Given the description of an element on the screen output the (x, y) to click on. 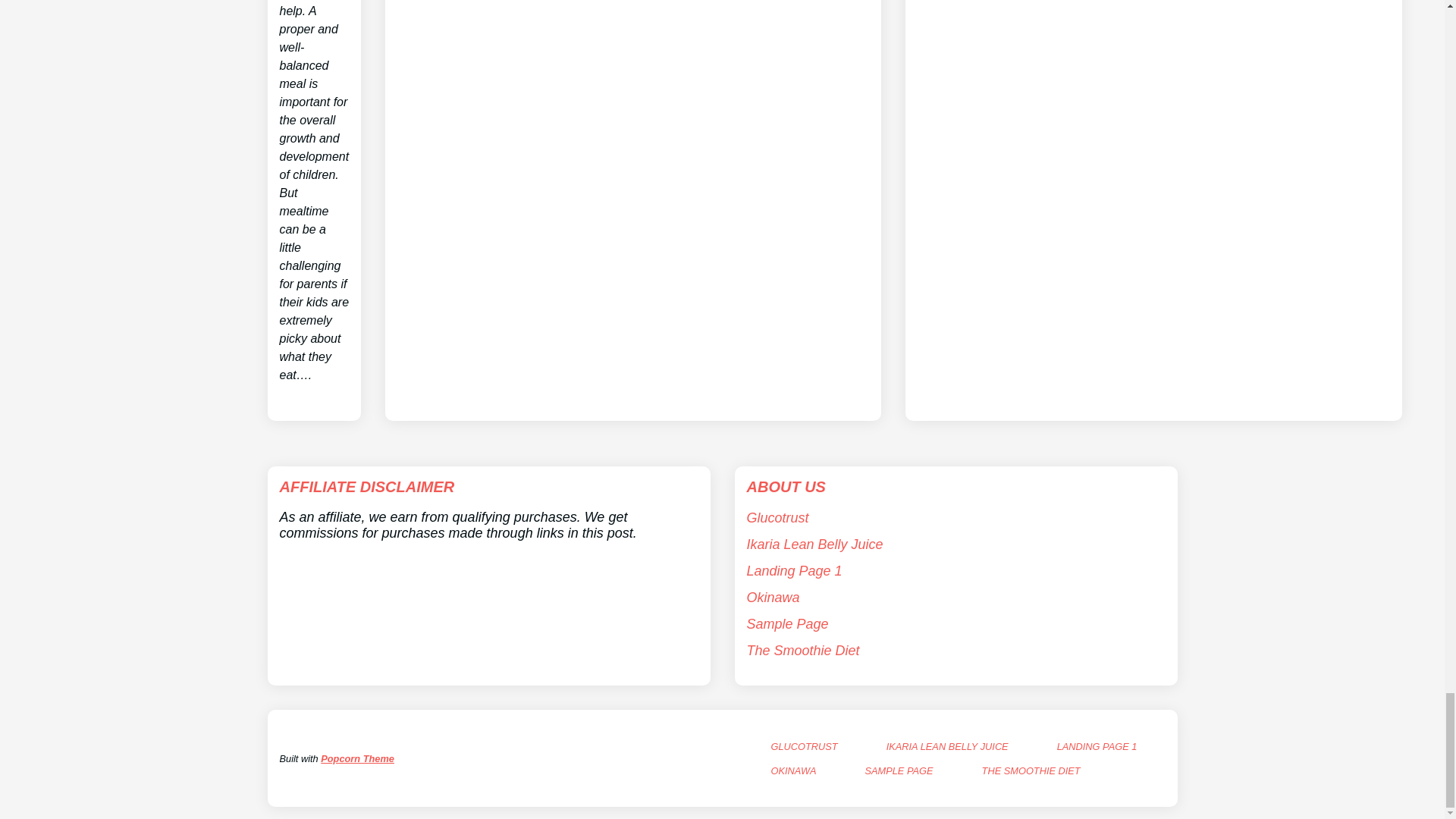
LANDING PAGE 1 (1097, 746)
Okinawa (772, 597)
SAMPLE PAGE (898, 770)
The Smoothie Diet (802, 650)
Ikaria Lean Belly Juice (813, 544)
Popcorn Theme (357, 758)
IKARIA LEAN BELLY JUICE (947, 746)
OKINAWA (792, 770)
GLUCOTRUST (803, 746)
THE SMOOTHIE DIET (1030, 770)
Glucotrust (776, 517)
Sample Page (786, 623)
Landing Page 1 (793, 570)
